Given the description of an element on the screen output the (x, y) to click on. 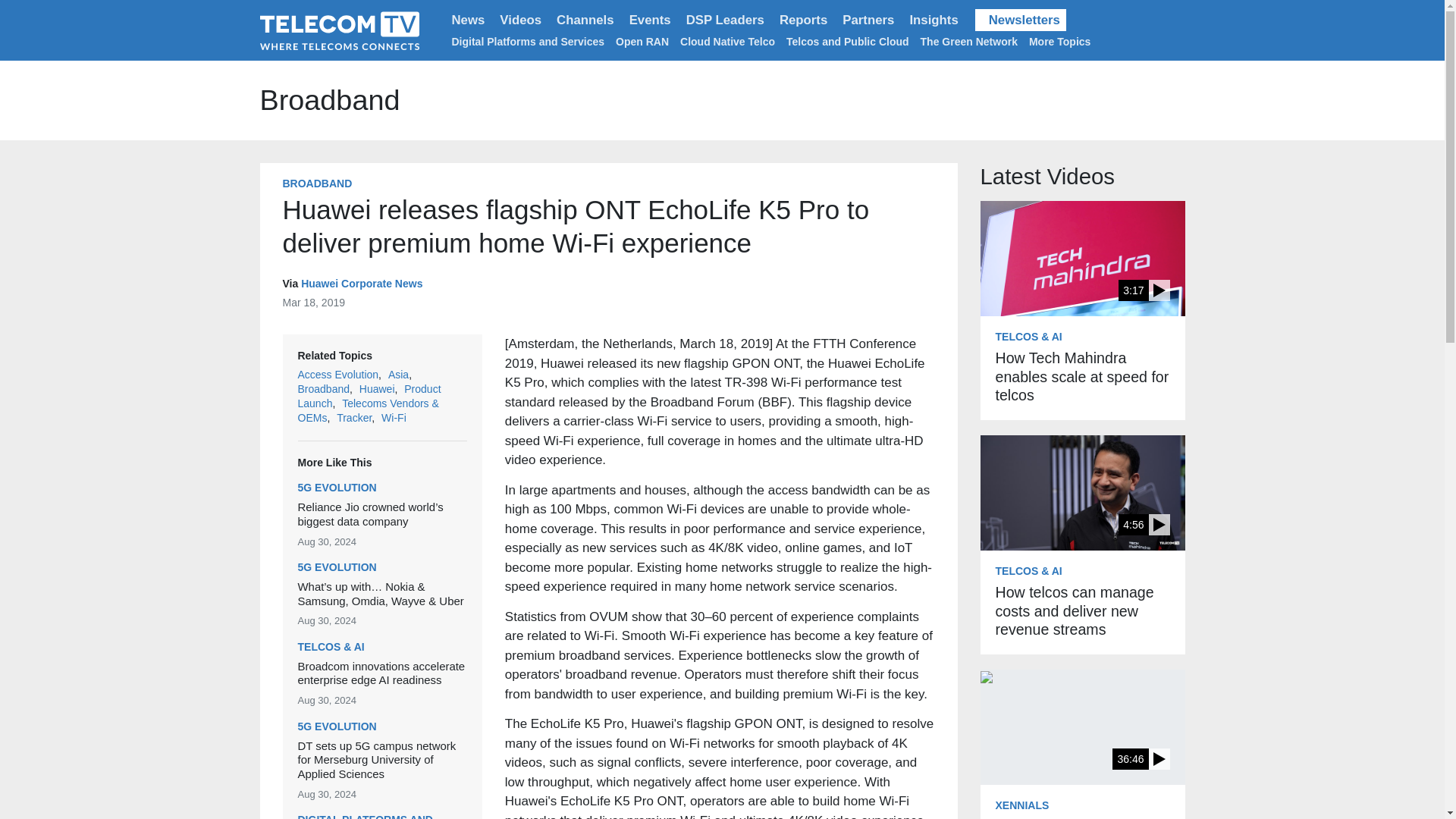
Newsletters (1020, 20)
DSP Leaders (724, 20)
News (468, 20)
Reports (802, 20)
Insights (932, 20)
Events (650, 20)
Channels (585, 20)
Open RAN (641, 41)
The Green Network (968, 41)
Digital Platforms and Services (528, 41)
